Given the description of an element on the screen output the (x, y) to click on. 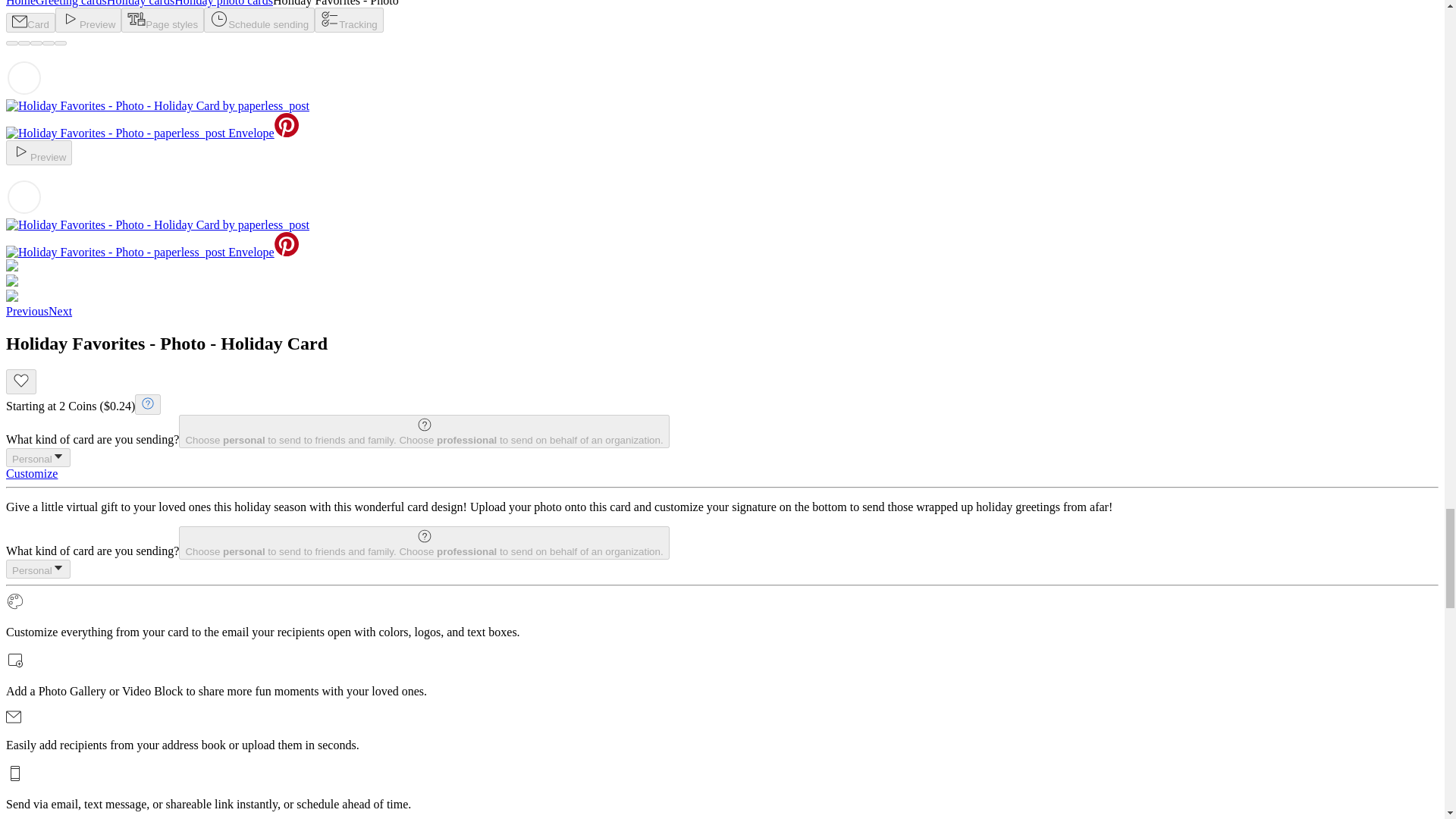
play icon (70, 18)
Loading... (23, 197)
play icon (20, 151)
Loading... (23, 77)
Schedule sending icon (218, 18)
Closed envelope (19, 21)
Pinterest icon (286, 125)
tracking icon (329, 18)
Page style icon (136, 18)
